Given the description of an element on the screen output the (x, y) to click on. 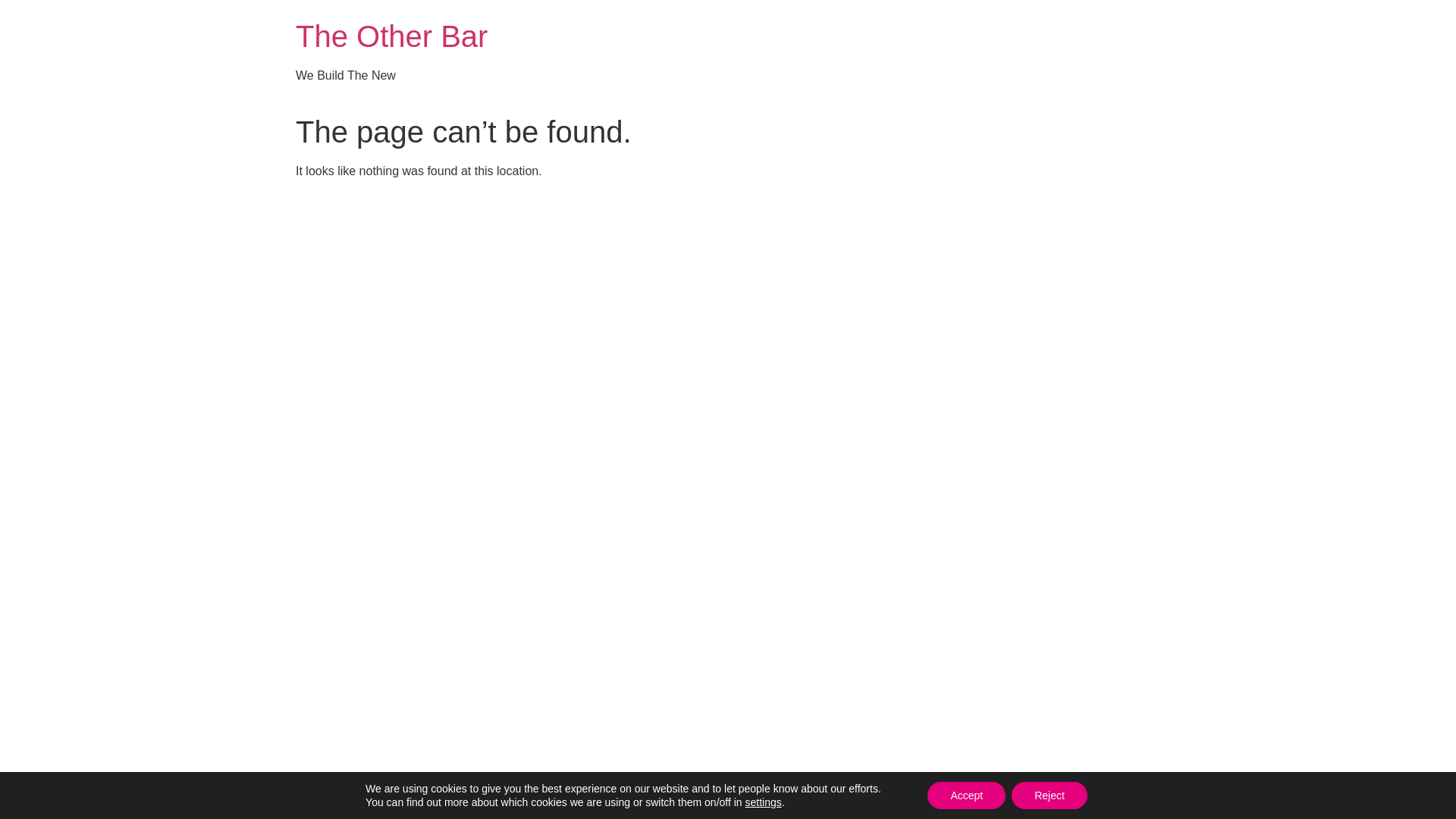
Accept Element type: text (966, 795)
Reject Element type: text (1049, 795)
The Other Bar Element type: text (391, 36)
Skip to content Element type: text (0, 0)
